Given the description of an element on the screen output the (x, y) to click on. 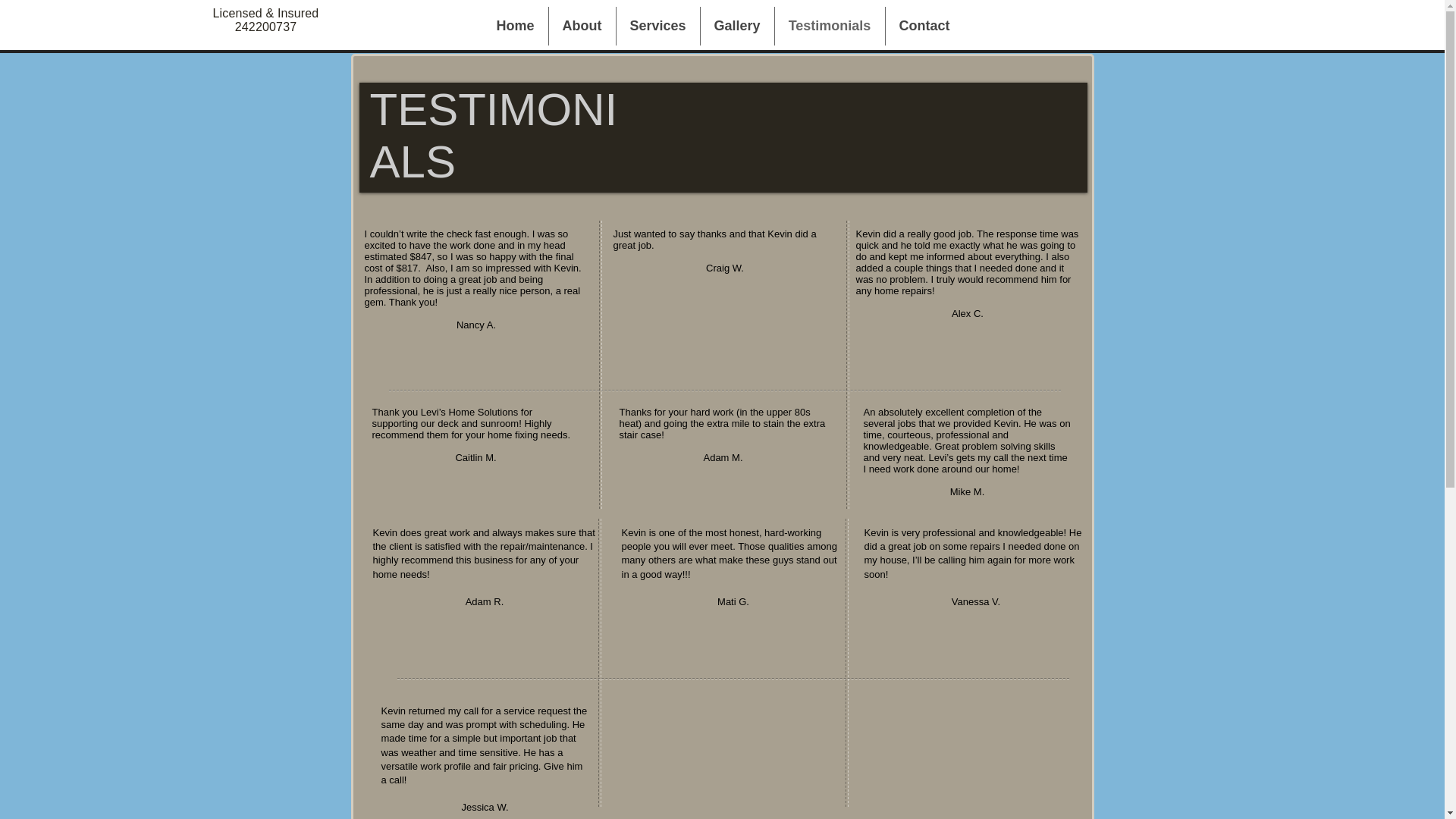
Gallery (737, 25)
Home (514, 25)
Contact (924, 25)
Services (656, 25)
Testimonials (829, 25)
About (581, 25)
